Given the description of an element on the screen output the (x, y) to click on. 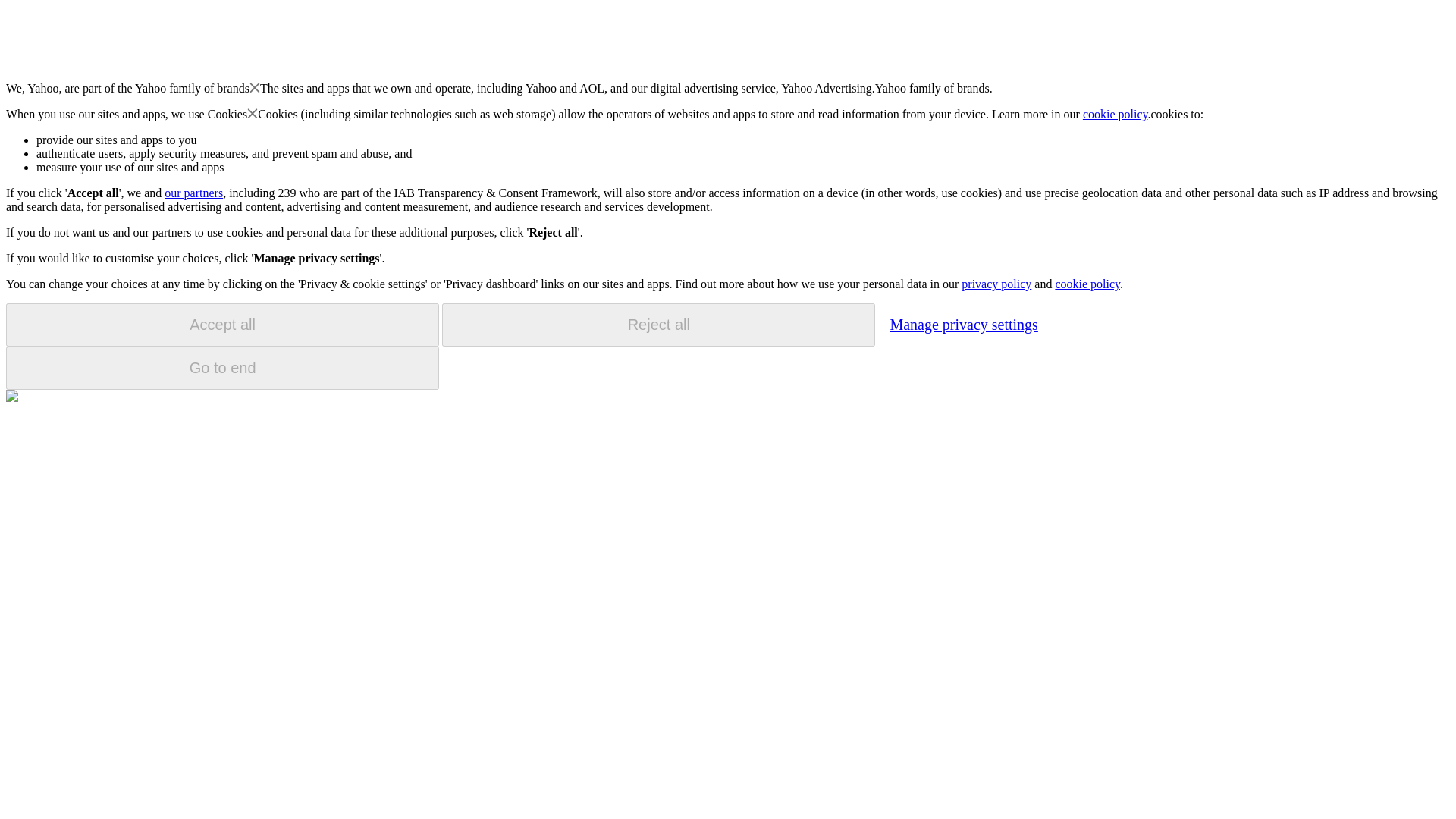
cookie policy (1086, 283)
Manage privacy settings (963, 323)
cookie policy (1115, 113)
our partners (193, 192)
Go to end (222, 367)
Accept all (222, 324)
privacy policy (995, 283)
Reject all (658, 324)
